Given the description of an element on the screen output the (x, y) to click on. 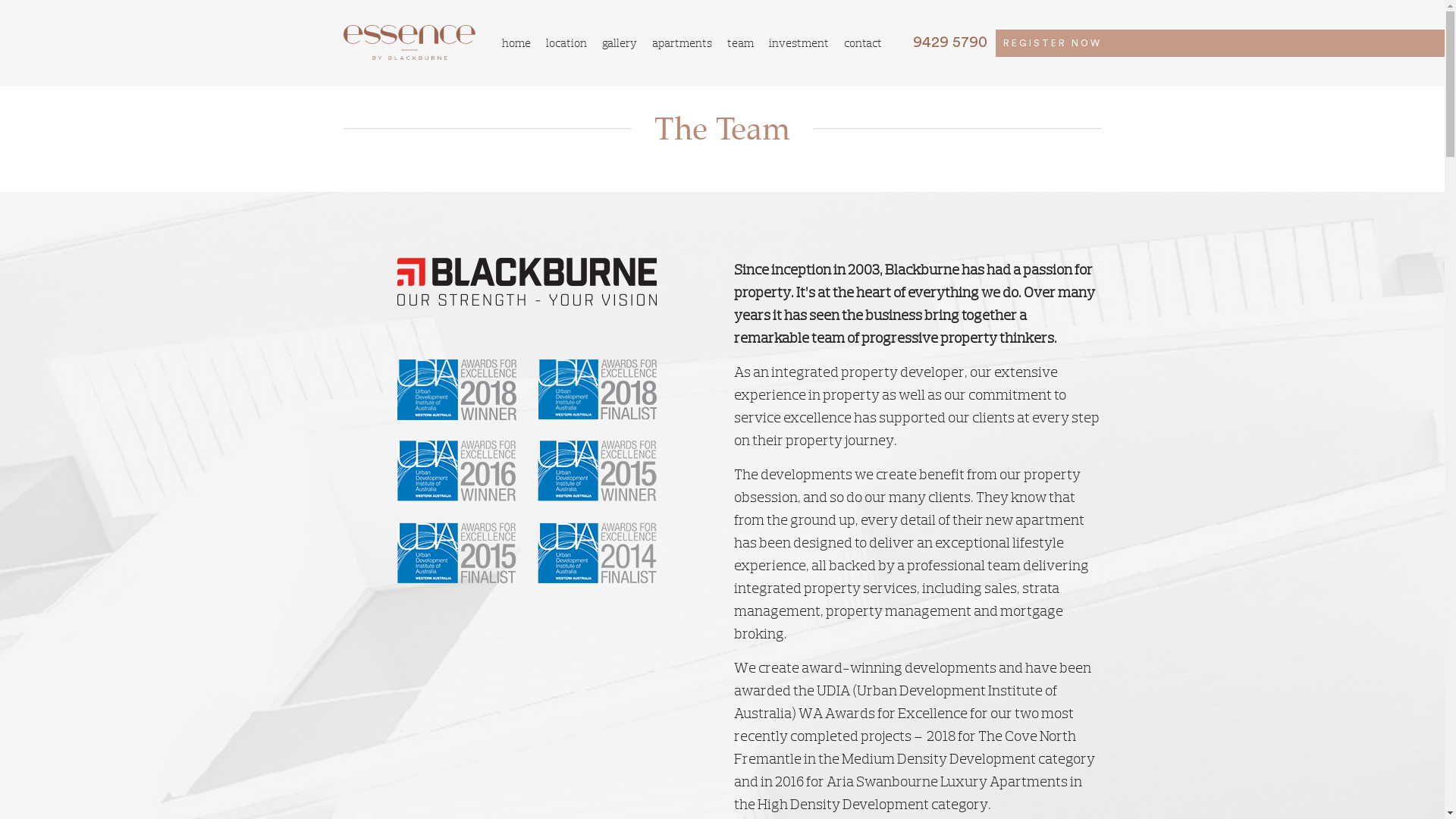
investment Element type: text (798, 42)
home Element type: text (516, 42)
apartments Element type: text (681, 42)
REGISTER NOW Element type: text (1051, 42)
location Element type: text (566, 42)
gallery Element type: text (619, 42)
9429 5790 Element type: text (941, 42)
contact Element type: text (862, 42)
team Element type: text (740, 42)
